Given the description of an element on the screen output the (x, y) to click on. 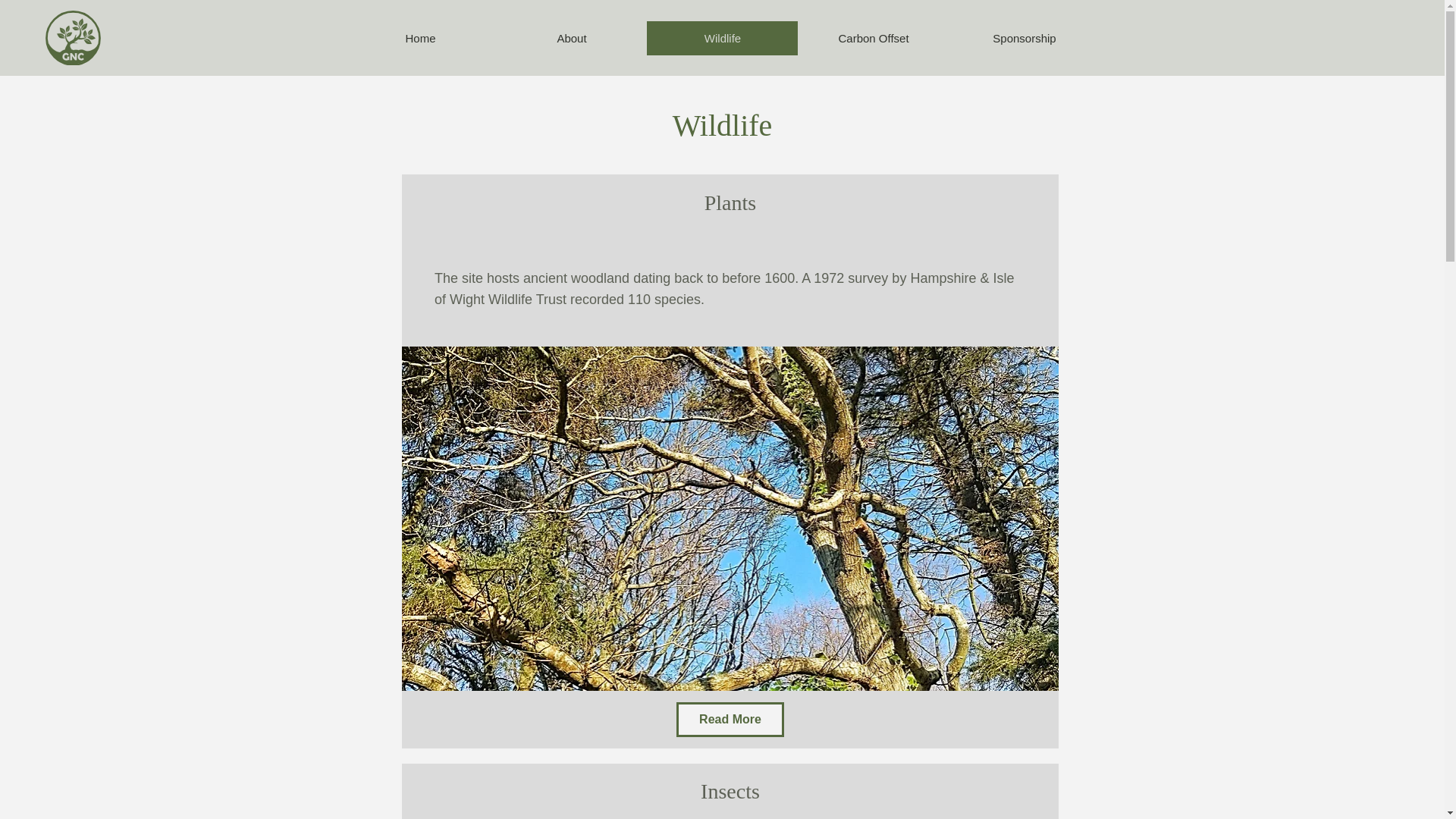
Read More (730, 719)
About (571, 38)
Sponsorship (1024, 38)
Wildlife (721, 38)
Carbon Offset (873, 38)
Home (420, 38)
